Given the description of an element on the screen output the (x, y) to click on. 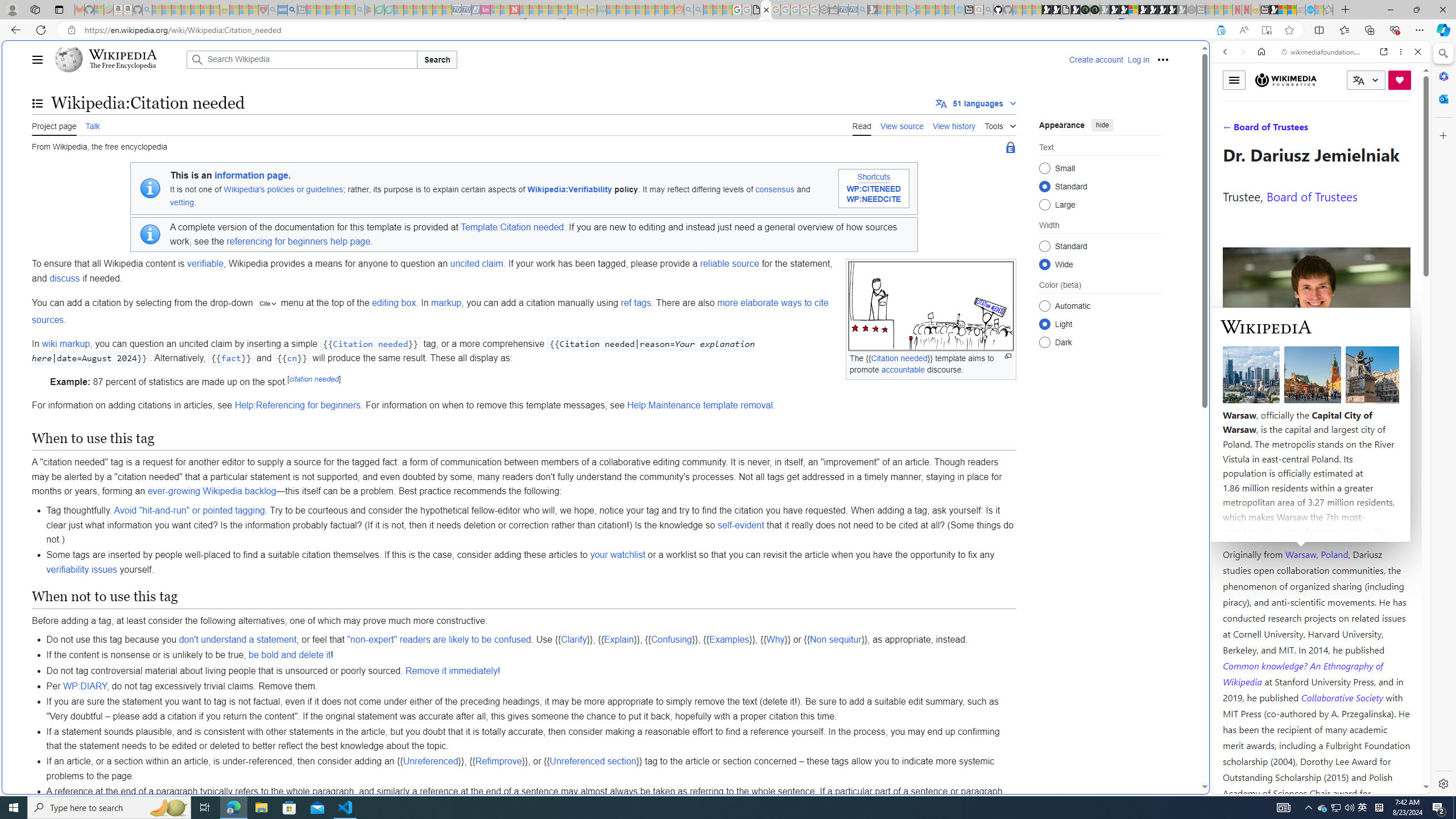
Citation needed (370, 342)
Harvard University (1259, 526)
Wikipedia:Citation needed - Wikipedia (766, 9)
"cite" (266, 303)
Search Wikipedia (301, 59)
